Given the description of an element on the screen output the (x, y) to click on. 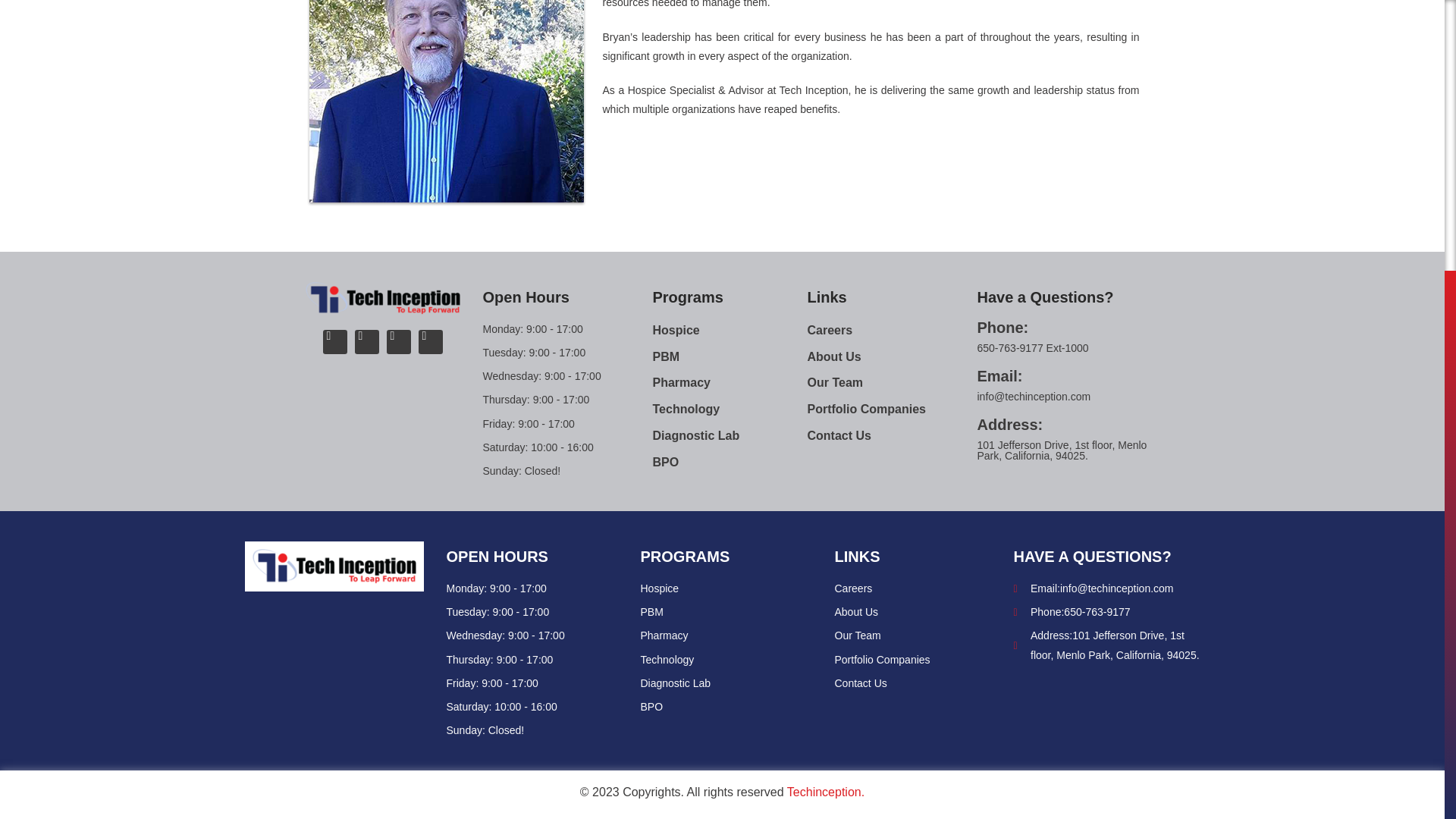
Pharmacy (729, 382)
Technology (725, 659)
About Us (920, 611)
Pharmacy (725, 635)
Hospice (725, 588)
BPO (729, 463)
Portfolio Companies (891, 409)
BPO (725, 706)
Hospice (729, 331)
Contact Us (891, 436)
